Given the description of an element on the screen output the (x, y) to click on. 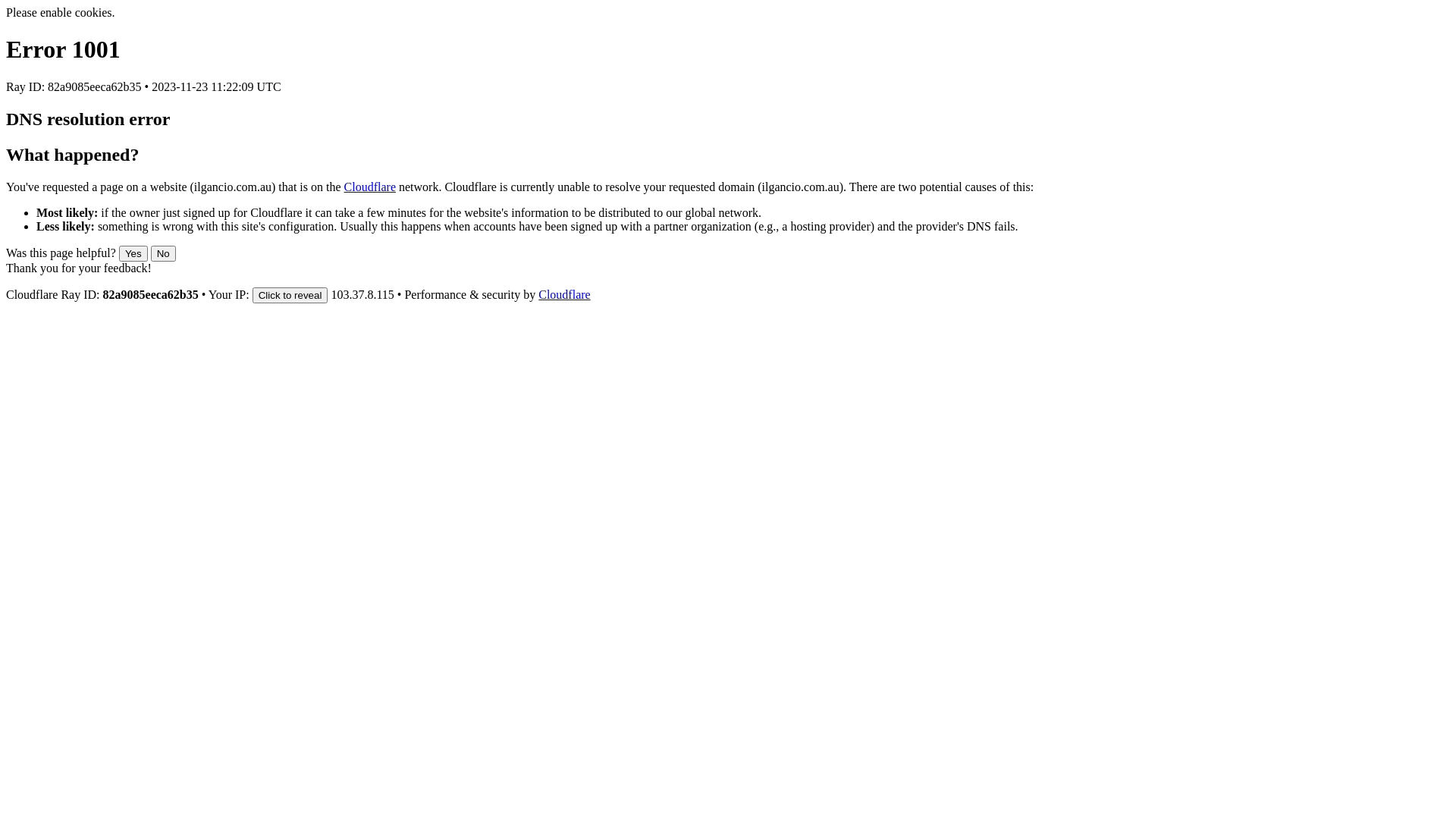
Cloudflare Element type: text (369, 186)
Yes Element type: text (133, 253)
No Element type: text (162, 253)
Click to reveal Element type: text (290, 295)
Cloudflare Element type: text (563, 294)
